Given the description of an element on the screen output the (x, y) to click on. 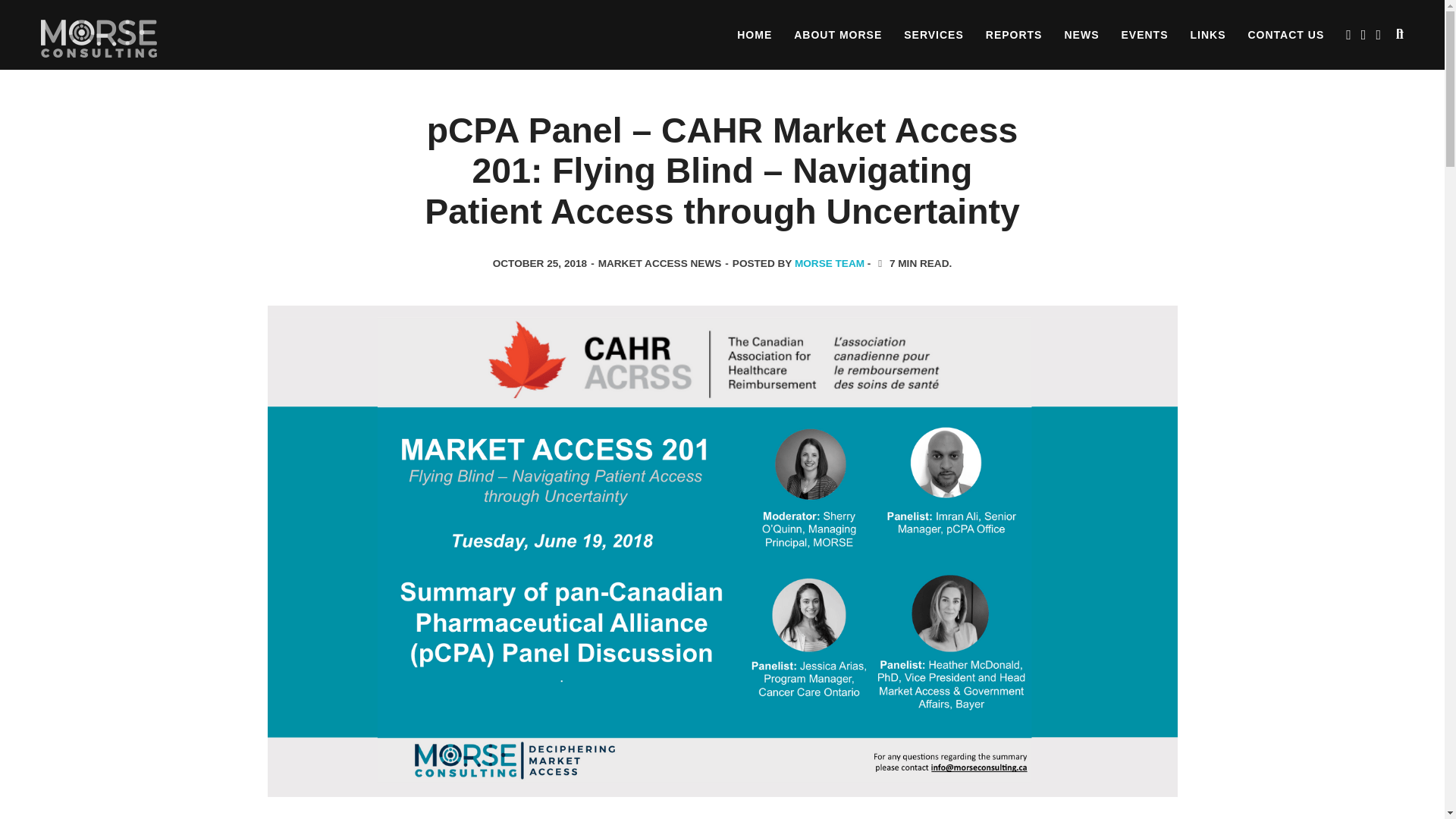
ABOUT MORSE (837, 34)
SERVICES (933, 34)
